Given the description of an element on the screen output the (x, y) to click on. 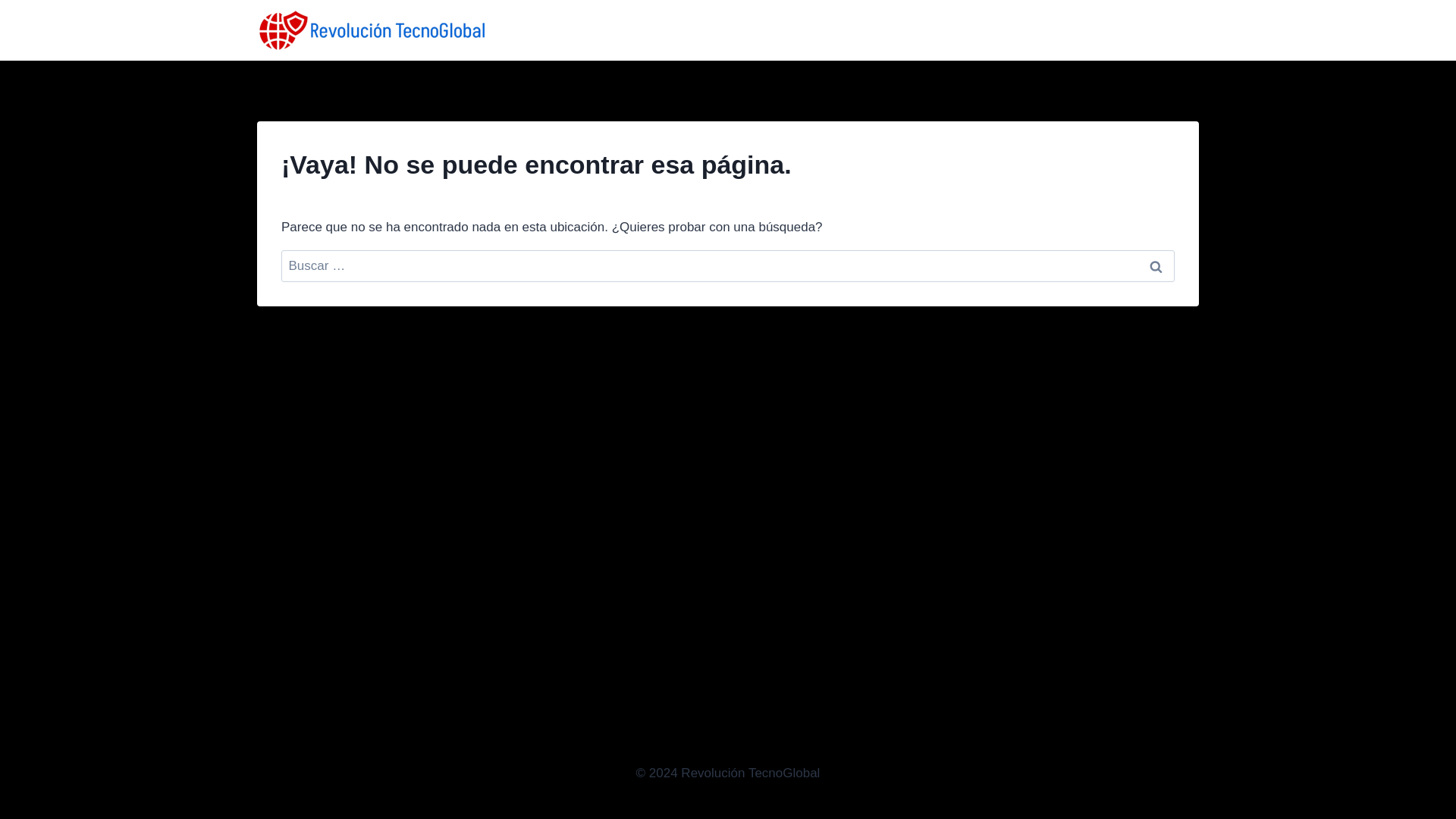
Buscar (1155, 266)
Buscar (1155, 266)
Buscar (1155, 266)
